Given the description of an element on the screen output the (x, y) to click on. 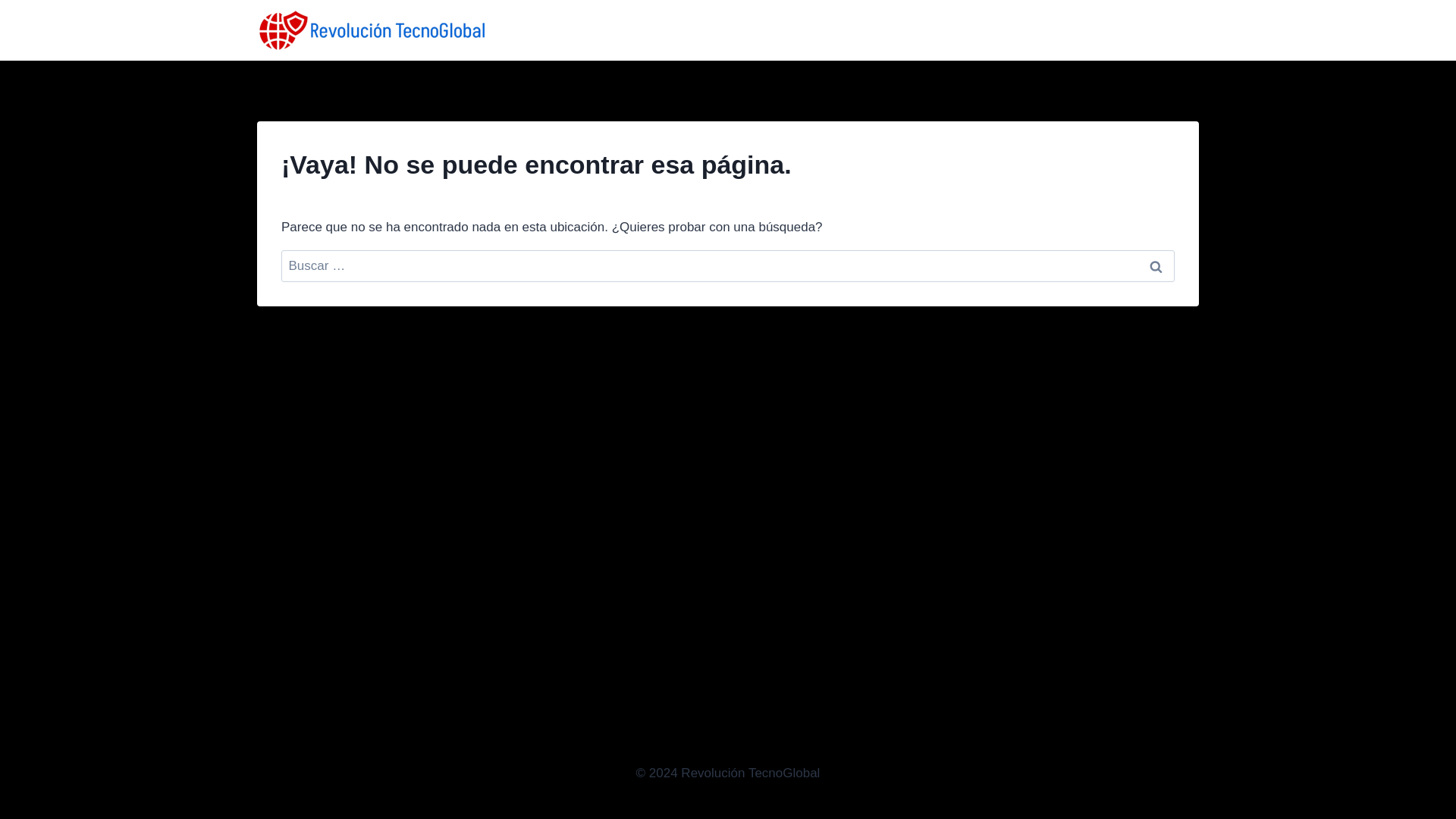
Buscar (1155, 266)
Buscar (1155, 266)
Buscar (1155, 266)
